Given the description of an element on the screen output the (x, y) to click on. 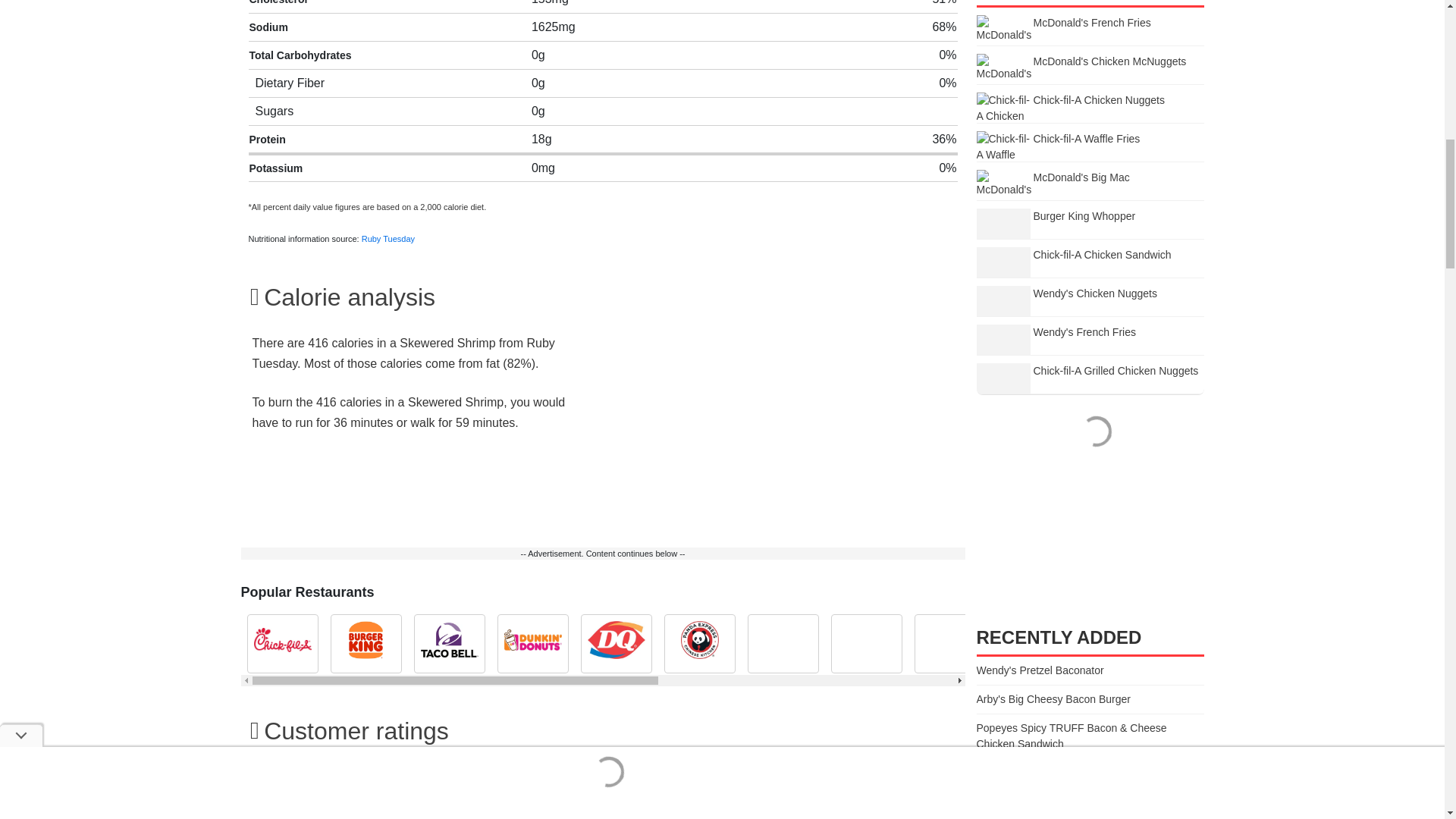
Cholesterol (277, 2)
Sodium (267, 26)
Dietary Fiber (289, 82)
Sugars (274, 110)
Total Carbohydrates (299, 54)
